Given the description of an element on the screen output the (x, y) to click on. 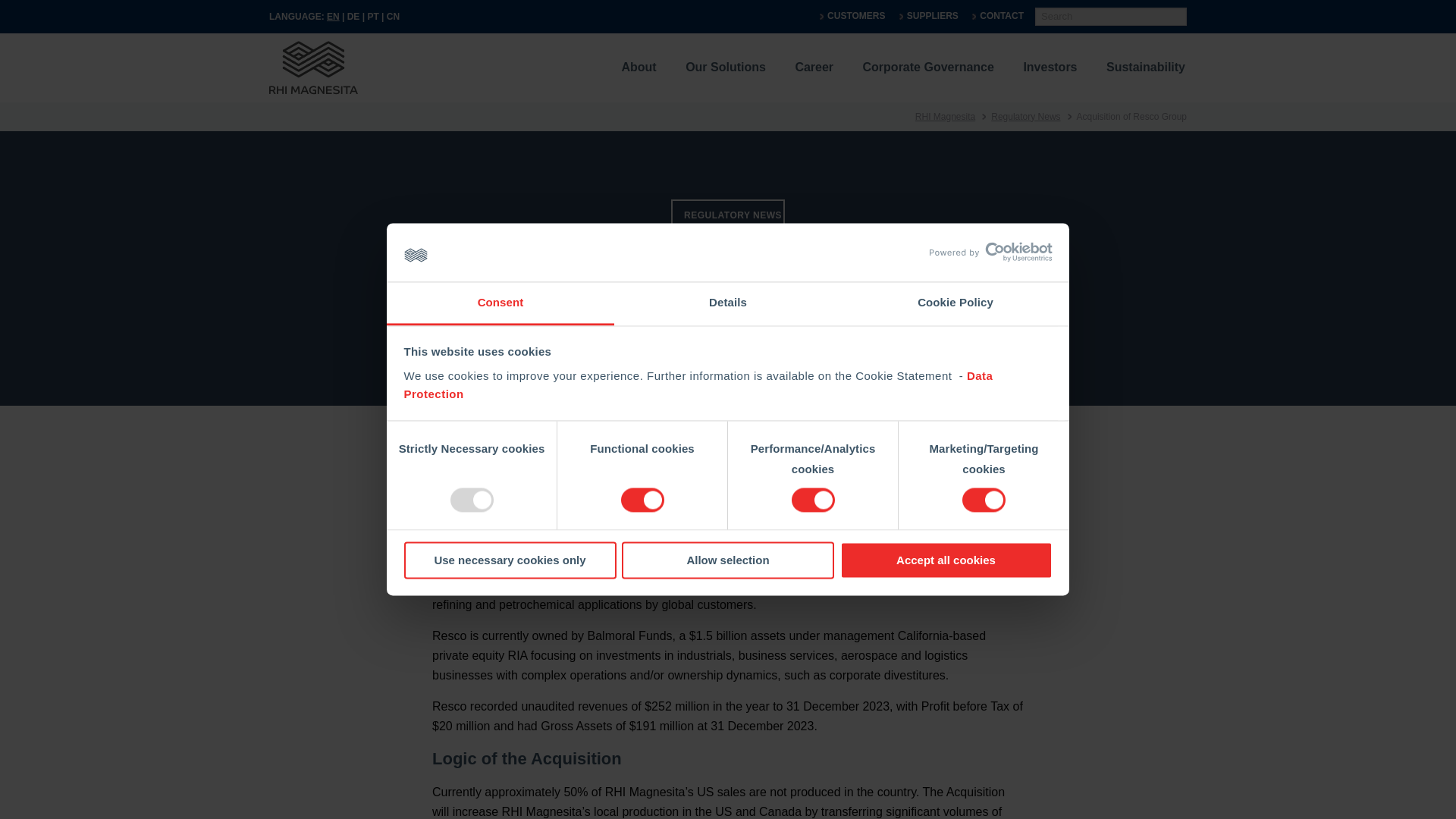
Cookie Policy (954, 303)
Details (727, 303)
Data Protection (697, 384)
Consent (500, 303)
Go to RHI Magnesita. (945, 116)
